Given the description of an element on the screen output the (x, y) to click on. 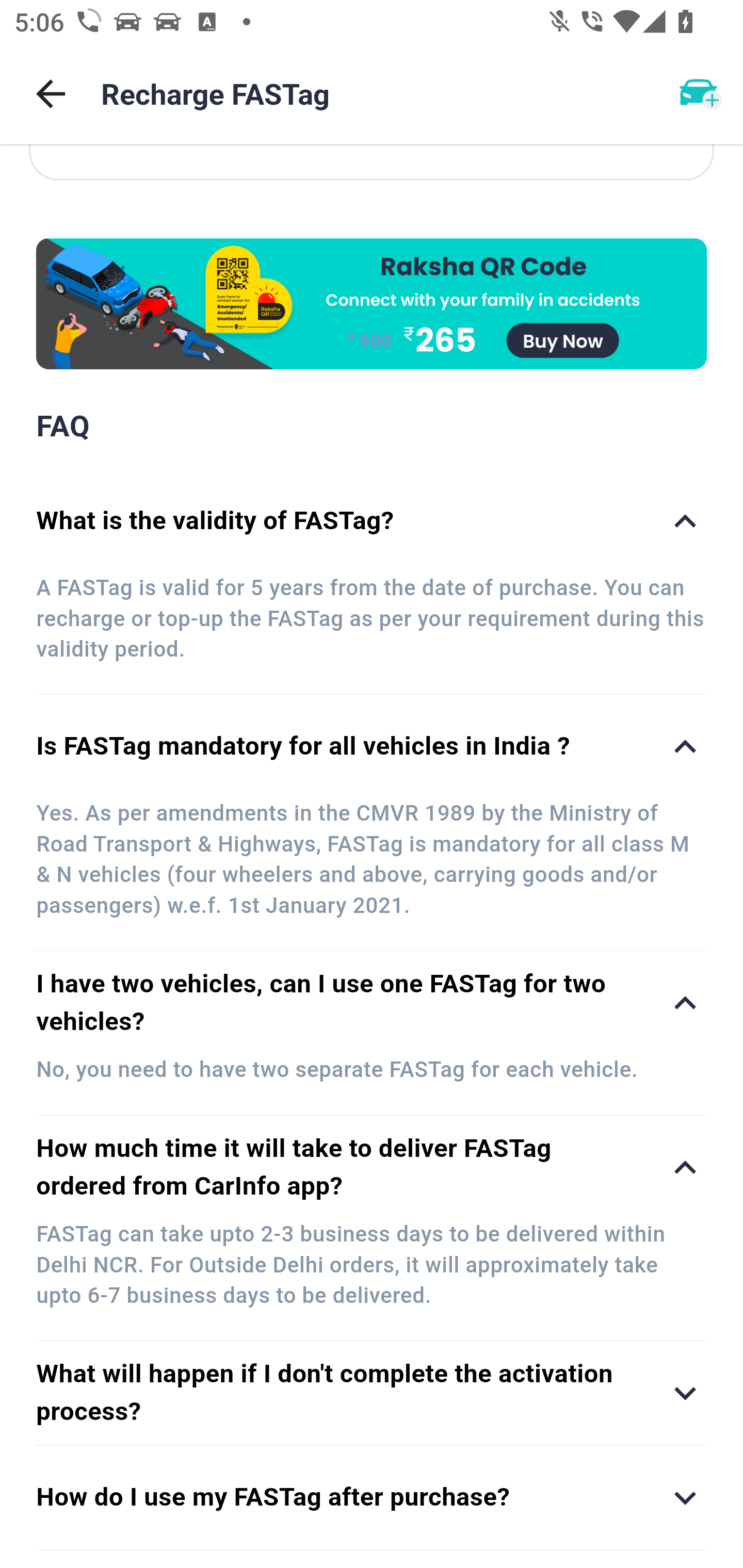
Back (50, 93)
How do I use my FASTag after purchase? (371, 1497)
